Given the description of an element on the screen output the (x, y) to click on. 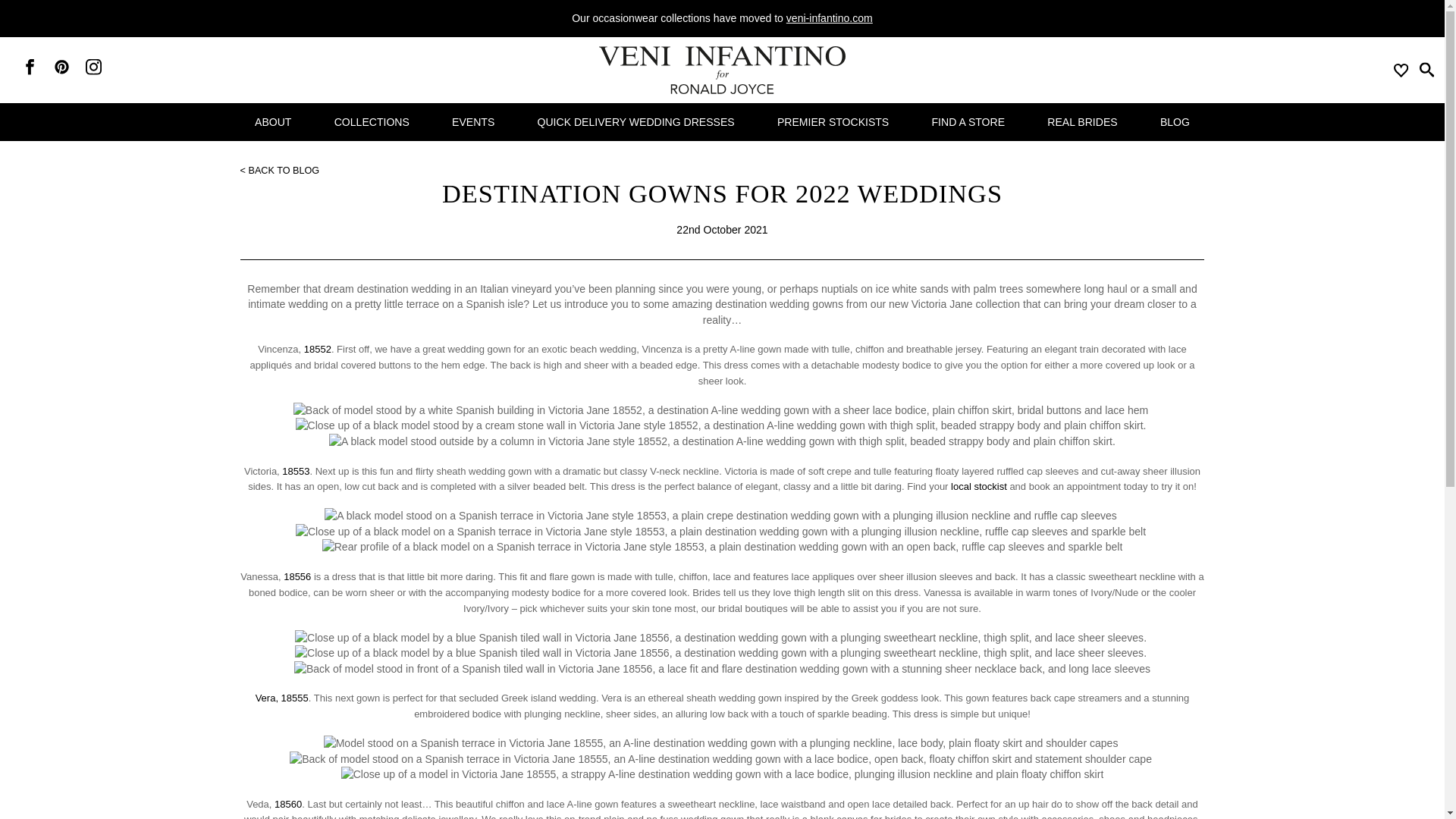
18556 (297, 576)
BLOG (1174, 121)
local stockist (978, 486)
FIND A STORE (968, 121)
EVENTS (472, 121)
REAL BRIDES (1082, 121)
18553 (295, 471)
COLLECTIONS (371, 121)
veni-infantino.com (829, 18)
18552 (317, 348)
